Given the description of an element on the screen output the (x, y) to click on. 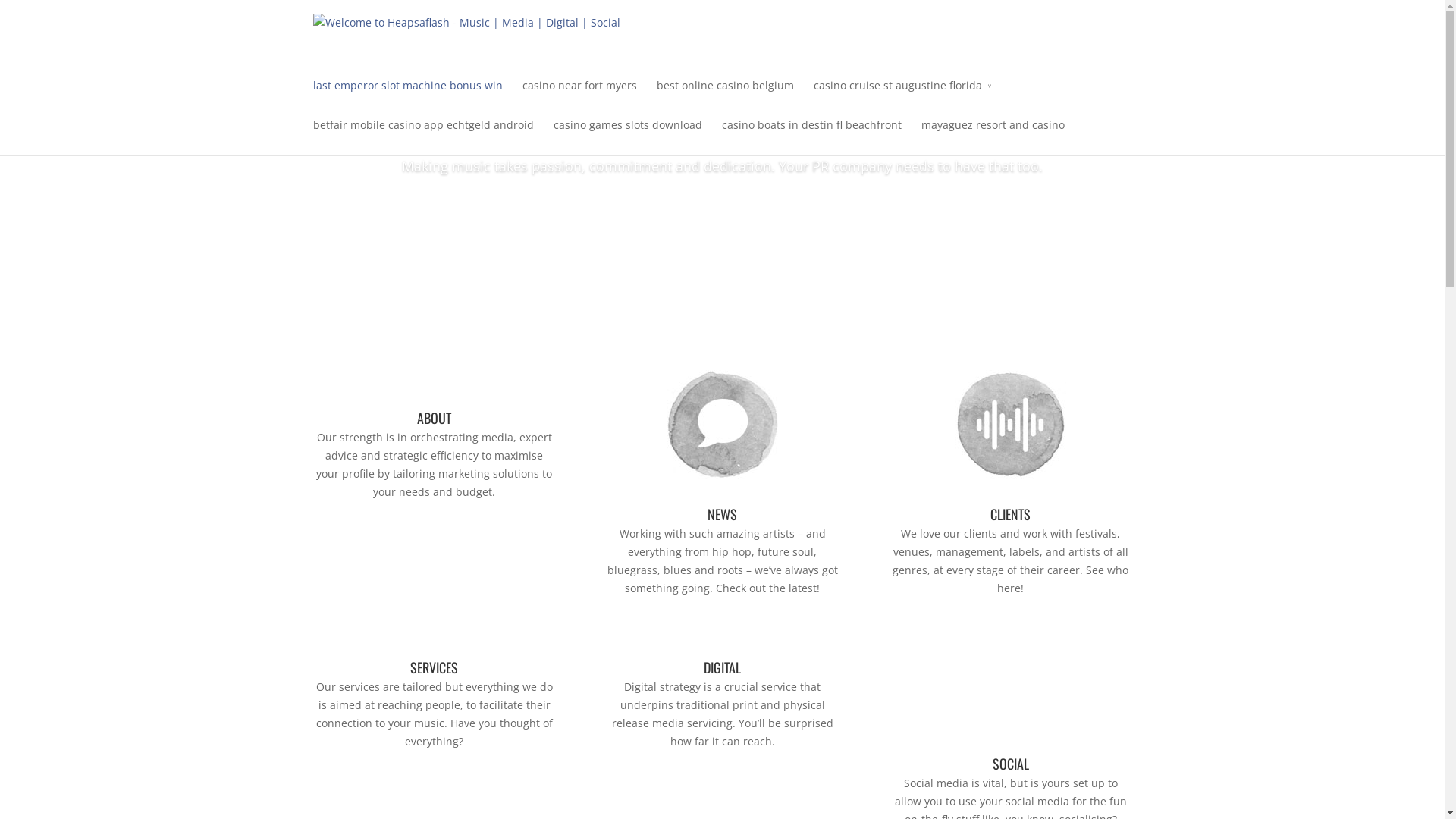
casino near fort myers Element type: text (578, 96)
NEWS Element type: text (722, 514)
casino boats in destin fl beachfront Element type: text (811, 135)
SOCIAL Element type: text (1009, 763)
casino cruise st augustine florida Element type: text (901, 96)
Read Our Story Element type: text (721, 214)
SERVICES Element type: text (434, 667)
CLIENTS Element type: text (1010, 514)
DIGITAL Element type: text (721, 667)
casino games slots download Element type: text (627, 135)
last emperor slot machine bonus win Element type: text (407, 96)
betfair mobile casino app echtgeld android Element type: text (422, 135)
mayaguez resort and casino Element type: text (991, 135)
best online casino belgium Element type: text (724, 96)
ABOUT Element type: text (434, 417)
